Given the description of an element on the screen output the (x, y) to click on. 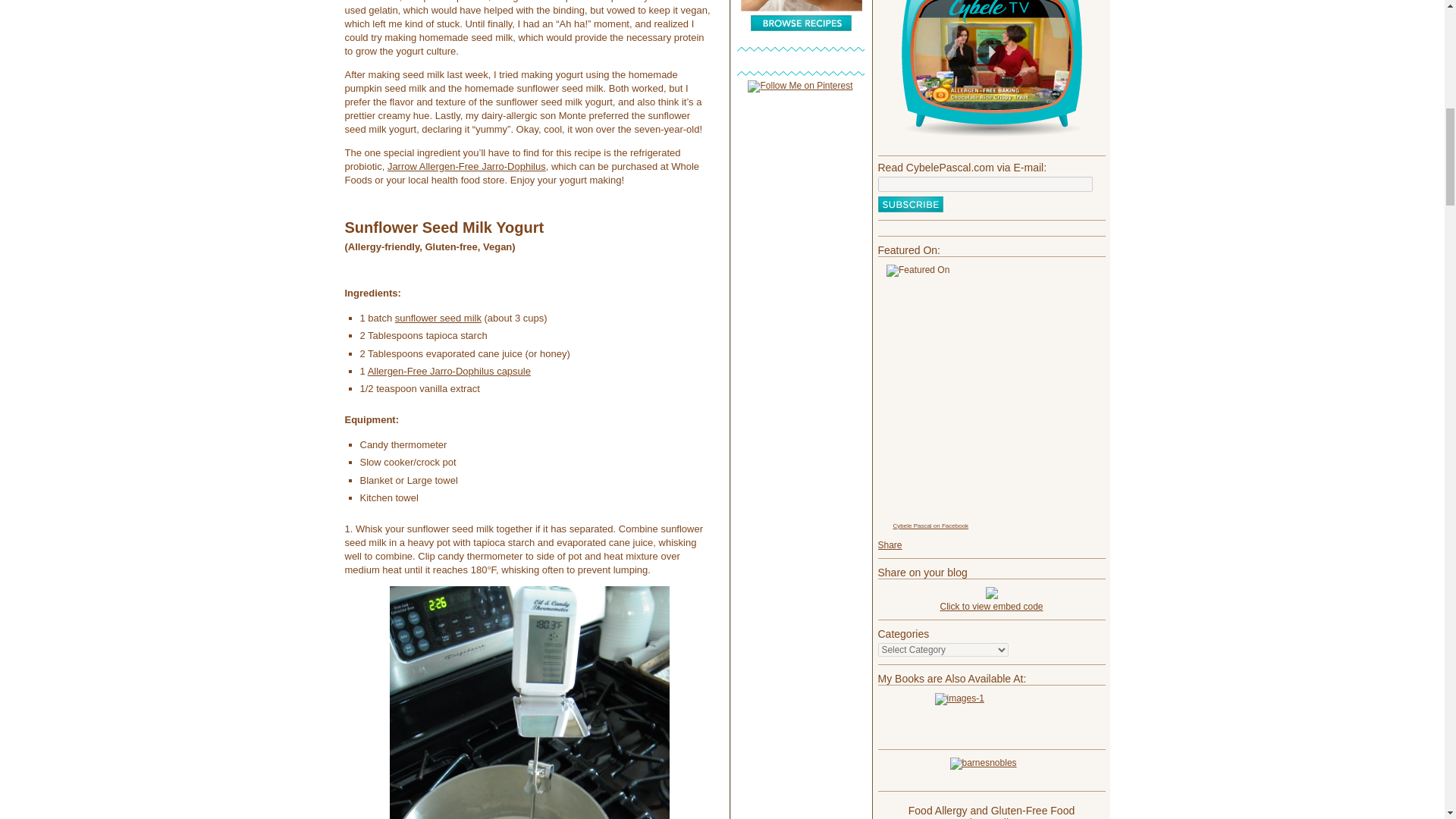
Cybele TV (991, 70)
Subscribe (910, 204)
Jarrow Allergen-Free Jarro-Dophilus (466, 165)
barnesnobles (991, 769)
sunflower seed milk (437, 317)
Follow Me on Pinterest (799, 85)
recipe-ad (800, 15)
images-1 (991, 717)
heatto180 (529, 702)
Allergen-Free Jarro-Dophilus capsule (449, 370)
